Given the description of an element on the screen output the (x, y) to click on. 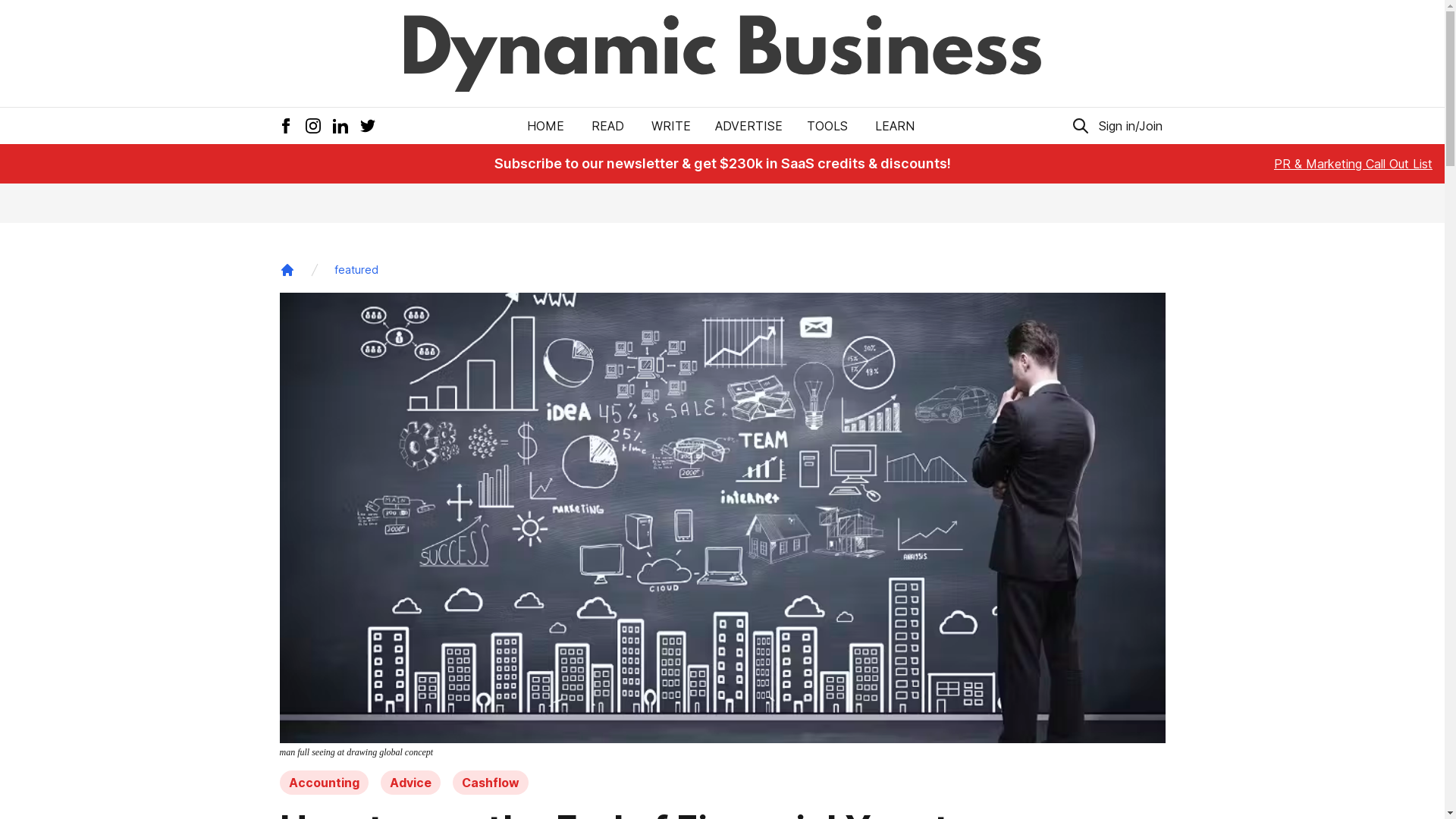
TOOLS Element type: text (826, 125)
Sign in/Join Element type: text (1129, 125)
WRITE Element type: text (670, 125)
PR & Marketing Call Out List Element type: text (1353, 163)
Accounting Element type: text (323, 782)
featured Element type: text (355, 269)
Home Element type: text (286, 269)
Advice Element type: text (410, 782)
LEARN Element type: text (894, 125)
READ Element type: text (607, 125)
Cashflow Element type: text (489, 782)
HOME Element type: text (545, 125)
ADVERTISE Element type: text (748, 125)
